Given the description of an element on the screen output the (x, y) to click on. 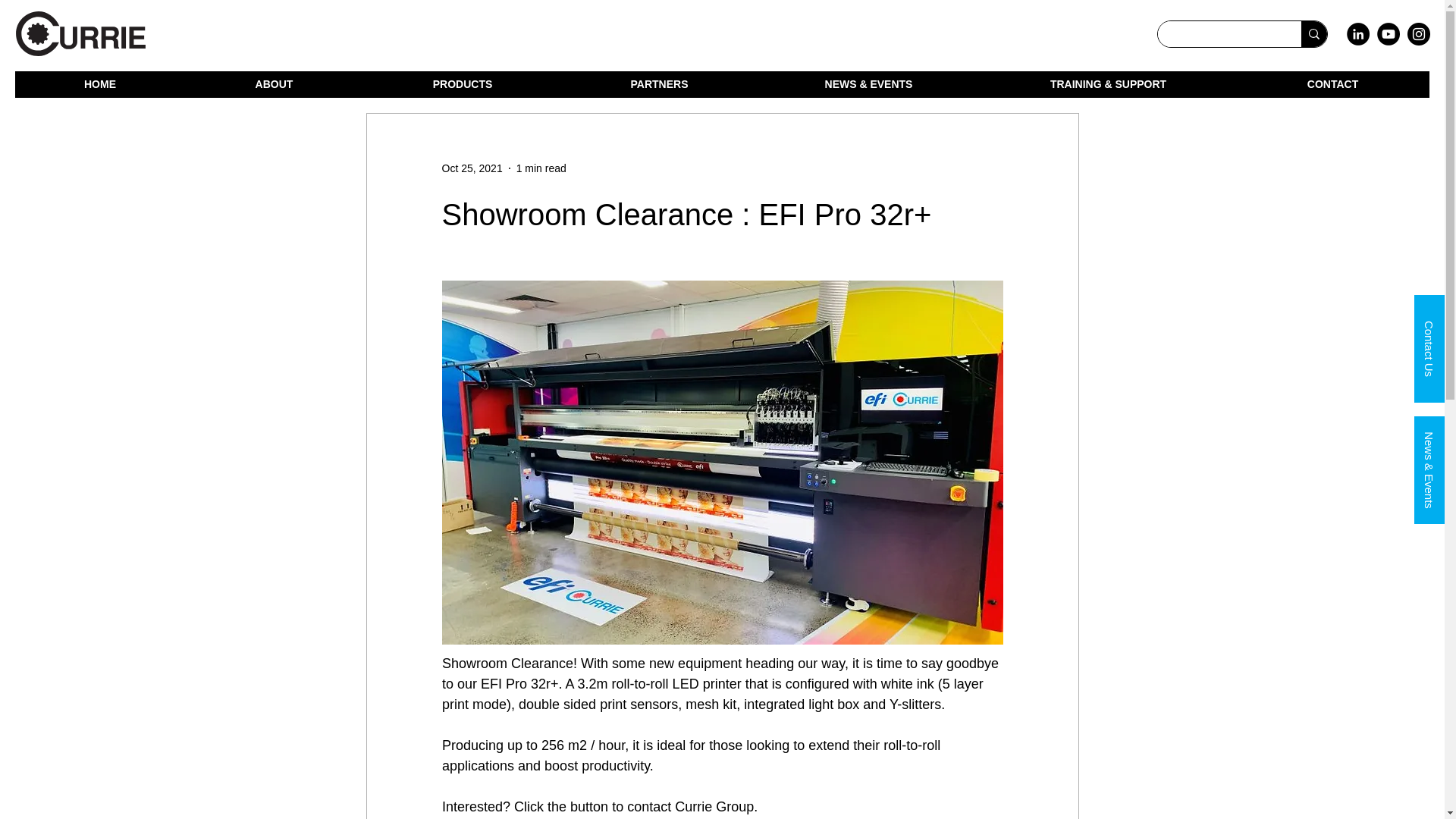
Oct 25, 2021 (471, 168)
PARTNERS (658, 84)
1 min read (541, 168)
PRODUCTS (462, 84)
ABOUT (273, 84)
HOME (99, 84)
CONTACT (1331, 84)
